Given the description of an element on the screen output the (x, y) to click on. 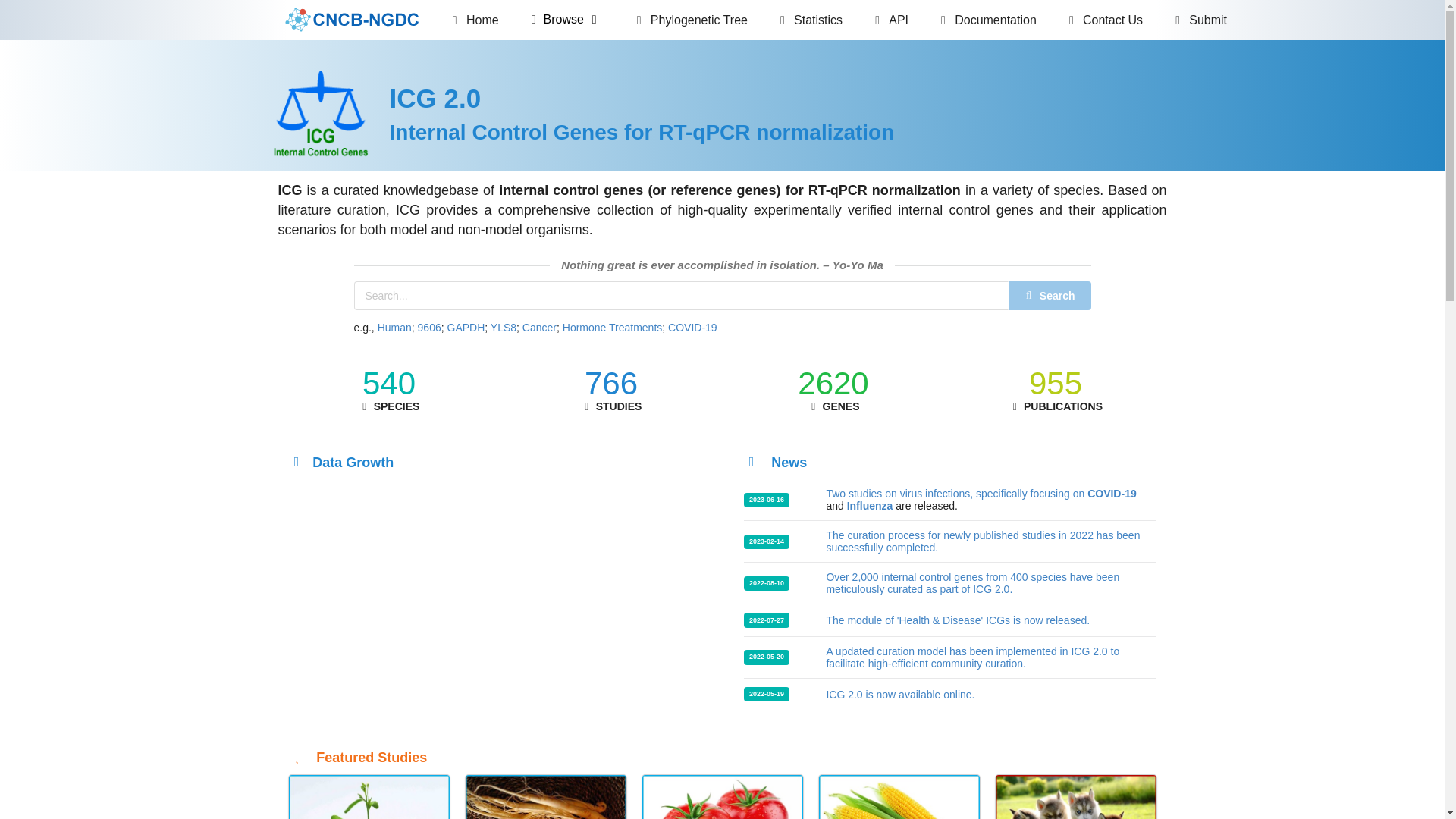
Human (394, 327)
Browse (564, 19)
GAPDH (465, 327)
9606 (429, 327)
Phylogenetic Tree (689, 20)
API (888, 20)
Documentation (985, 20)
Contact Us (1102, 20)
Submit (1198, 20)
Home (472, 20)
Statistics (808, 20)
Search (1049, 295)
